Given the description of an element on the screen output the (x, y) to click on. 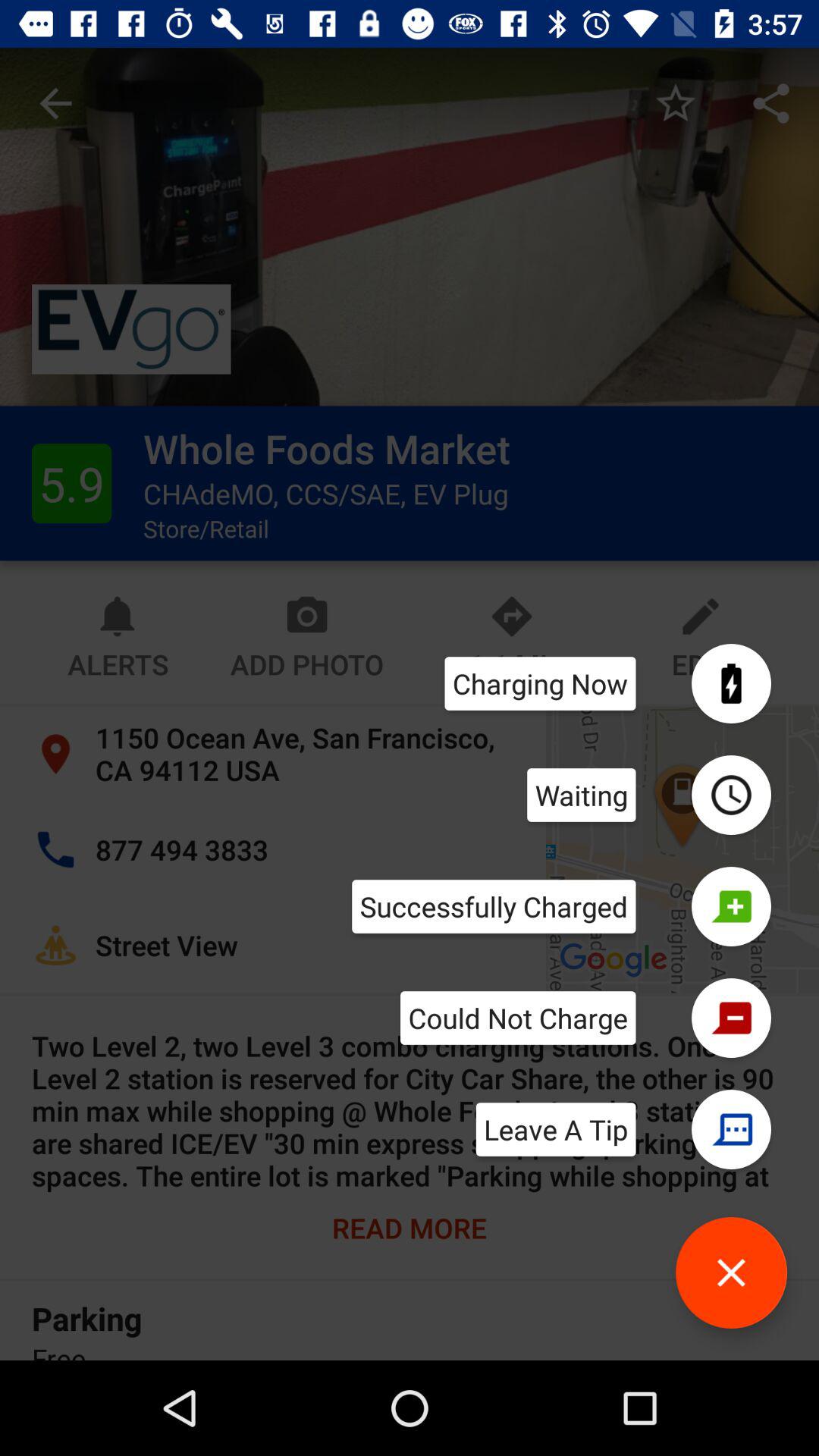
exit menu (731, 1272)
